Given the description of an element on the screen output the (x, y) to click on. 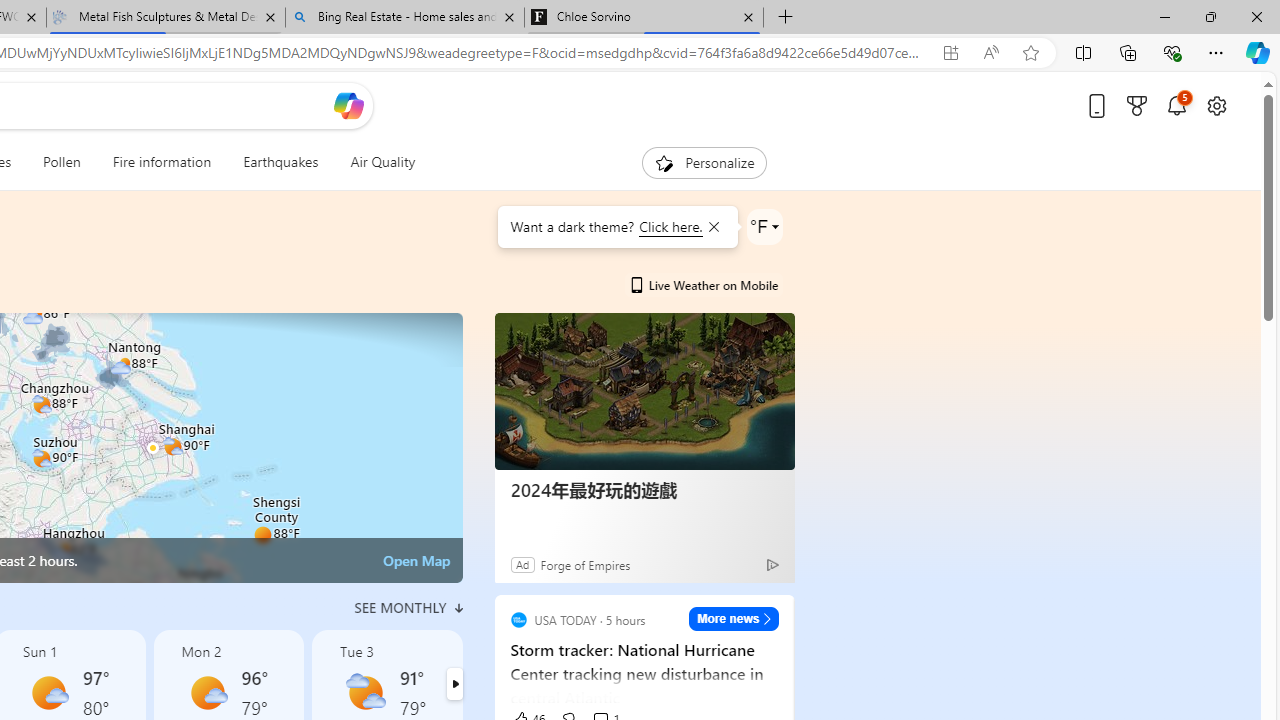
More news (733, 618)
To get missing image descriptions, open the context menu. (664, 162)
